Given the description of an element on the screen output the (x, y) to click on. 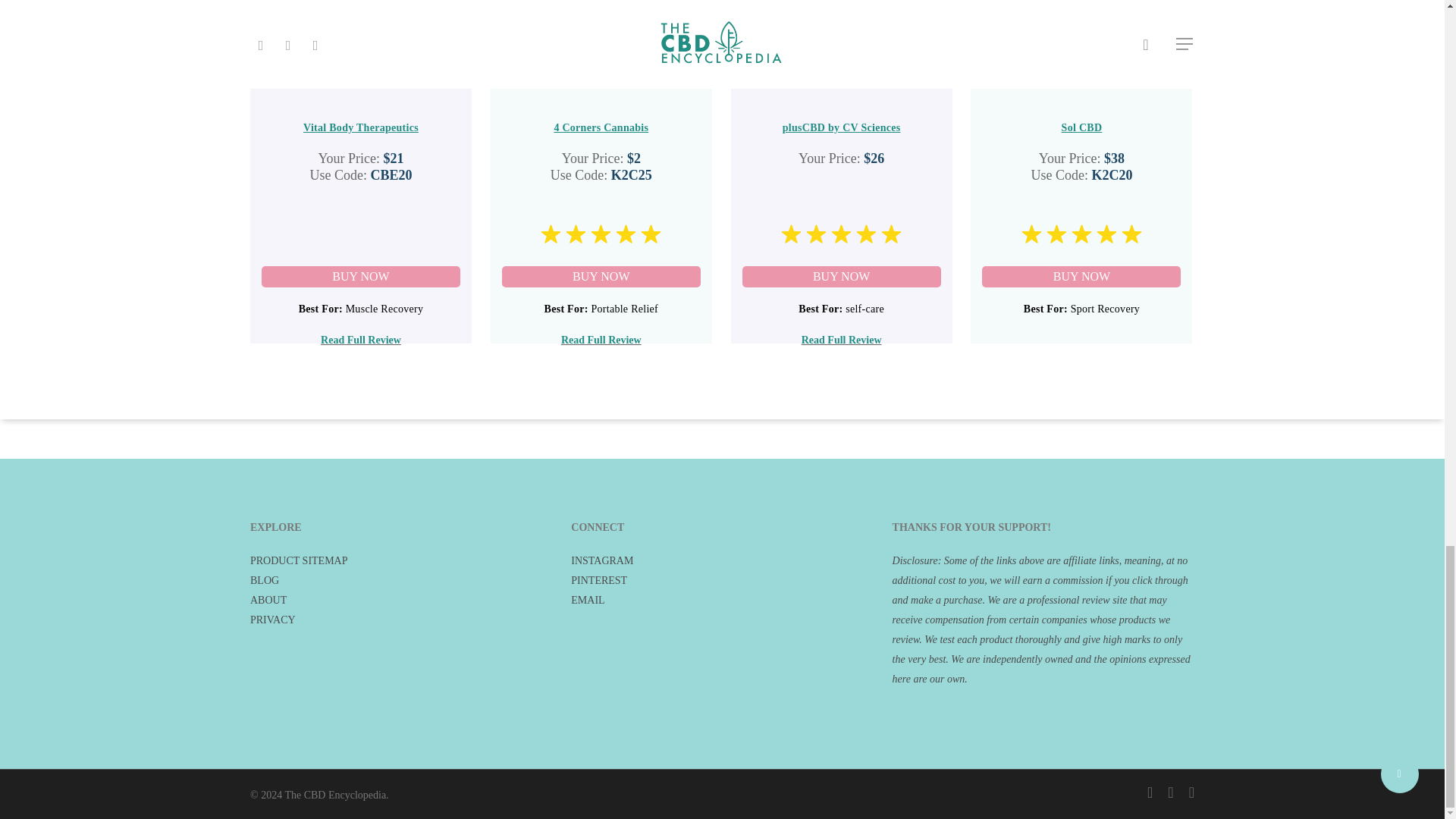
4 Corners Cannabis CBD Salve Stick (601, 276)
plusCBD by CV Sciences (842, 127)
Read Full Review (601, 339)
Read Full Review (360, 339)
BUY NOW (841, 276)
BUY NOW (361, 276)
BUY NOW (601, 276)
Read Full Review (842, 339)
Vital Body Therapeutics CBD Sport Balm (361, 276)
Sol CBD (1081, 127)
Sol CBD Balm (1080, 276)
Vital Body Therapeutics (360, 127)
Extra Strength Balm (841, 276)
BUY NOW (1080, 276)
4 Corners Cannabis (600, 127)
